Given the description of an element on the screen output the (x, y) to click on. 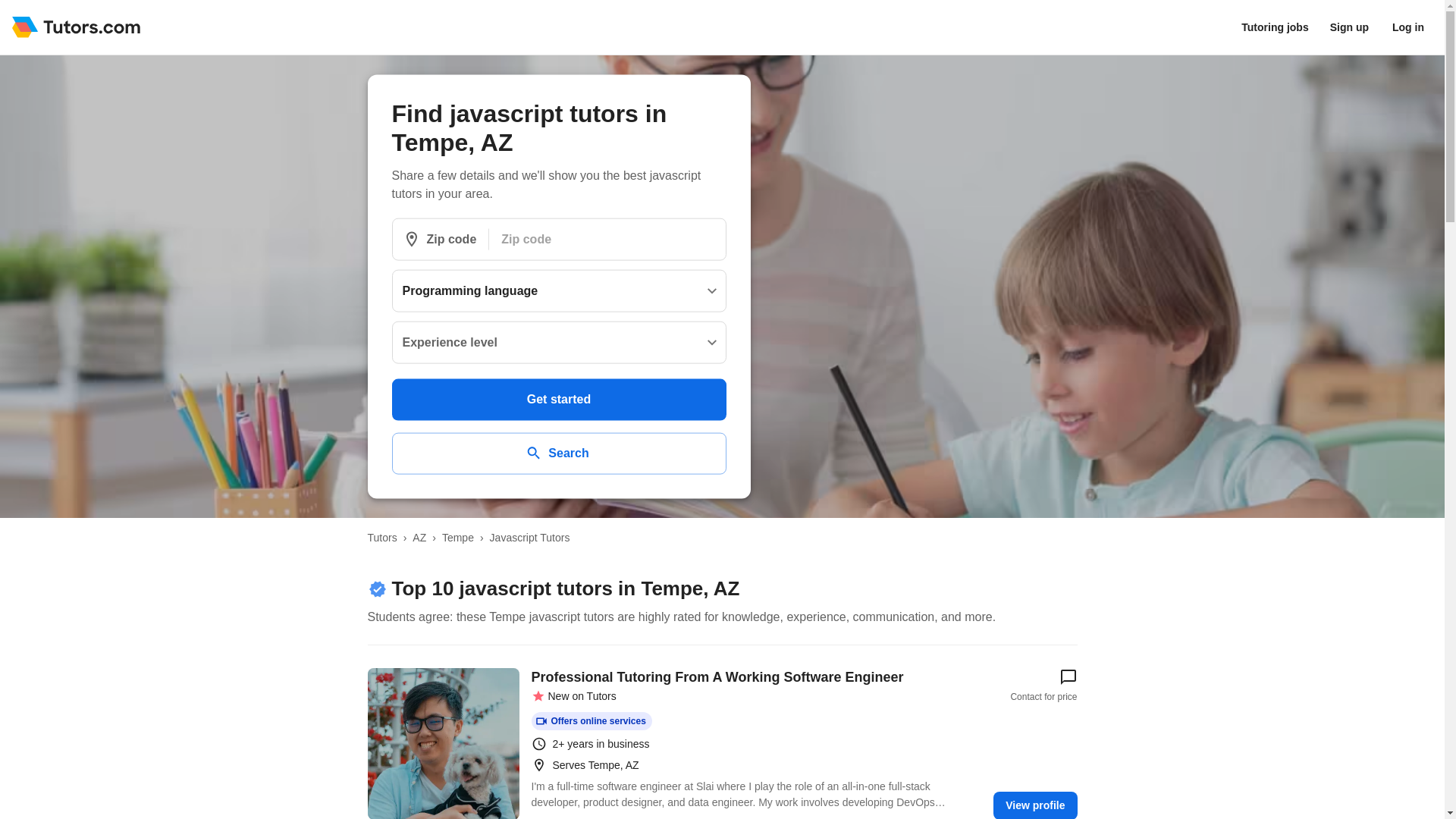
Search (558, 453)
AZ (419, 537)
View profile (1034, 805)
Sign up (1348, 27)
Professional Tutoring From A Working Software Engineer (442, 743)
Get started (558, 399)
Tempe (458, 537)
Contact for price (1043, 685)
Log in (1408, 27)
